Given the description of an element on the screen output the (x, y) to click on. 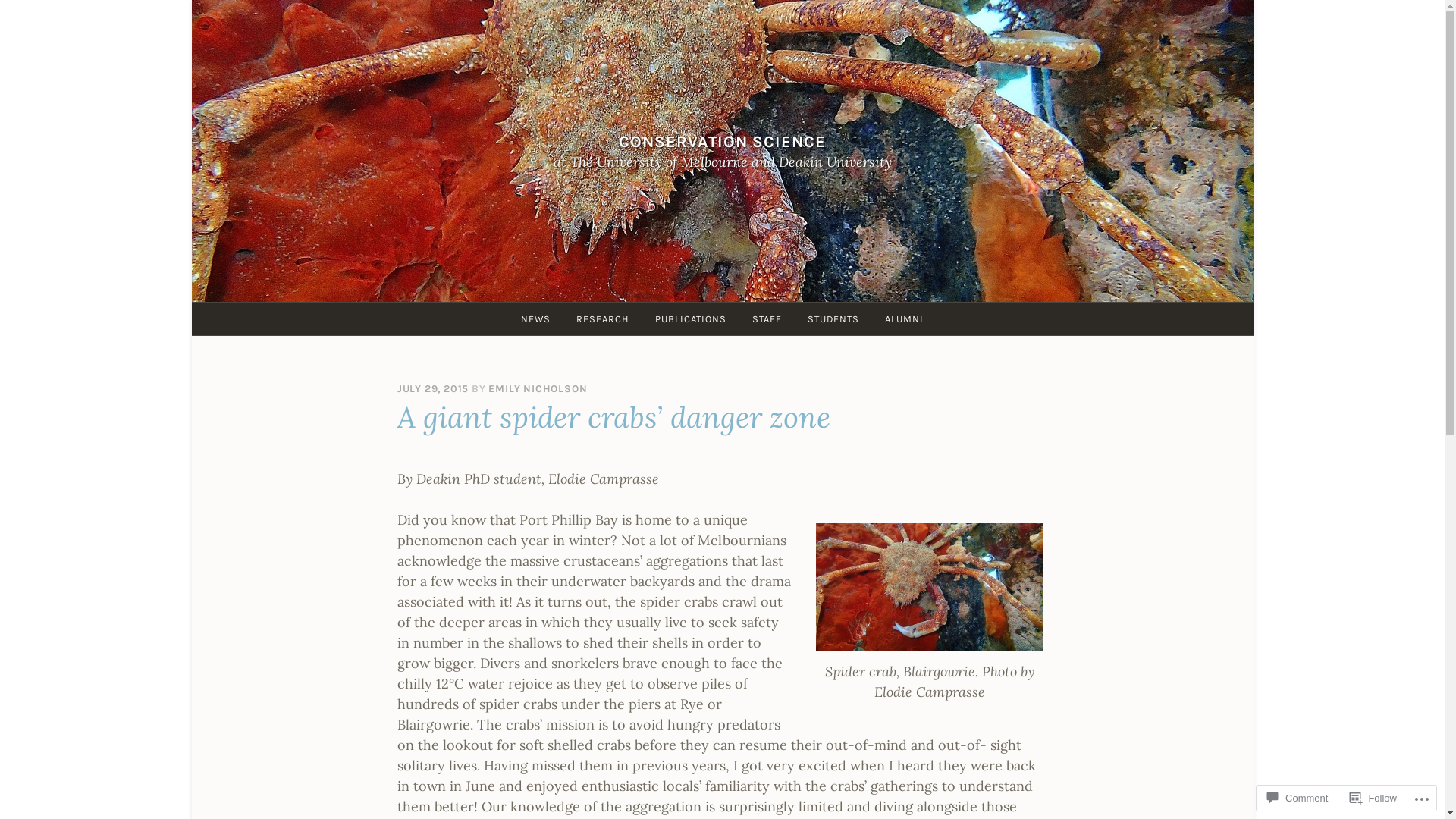
RESEARCH Element type: text (602, 318)
ALUMNI Element type: text (904, 318)
EMILY NICHOLSON Element type: text (537, 388)
CONSERVATION SCIENCE Element type: text (721, 140)
STAFF Element type: text (766, 318)
Follow Element type: text (1372, 797)
PUBLICATIONS Element type: text (690, 318)
JULY 29, 2015 Element type: text (432, 388)
STUDENTS Element type: text (833, 318)
Comment Element type: text (1297, 797)
NEWS Element type: text (535, 318)
